Given the description of an element on the screen output the (x, y) to click on. 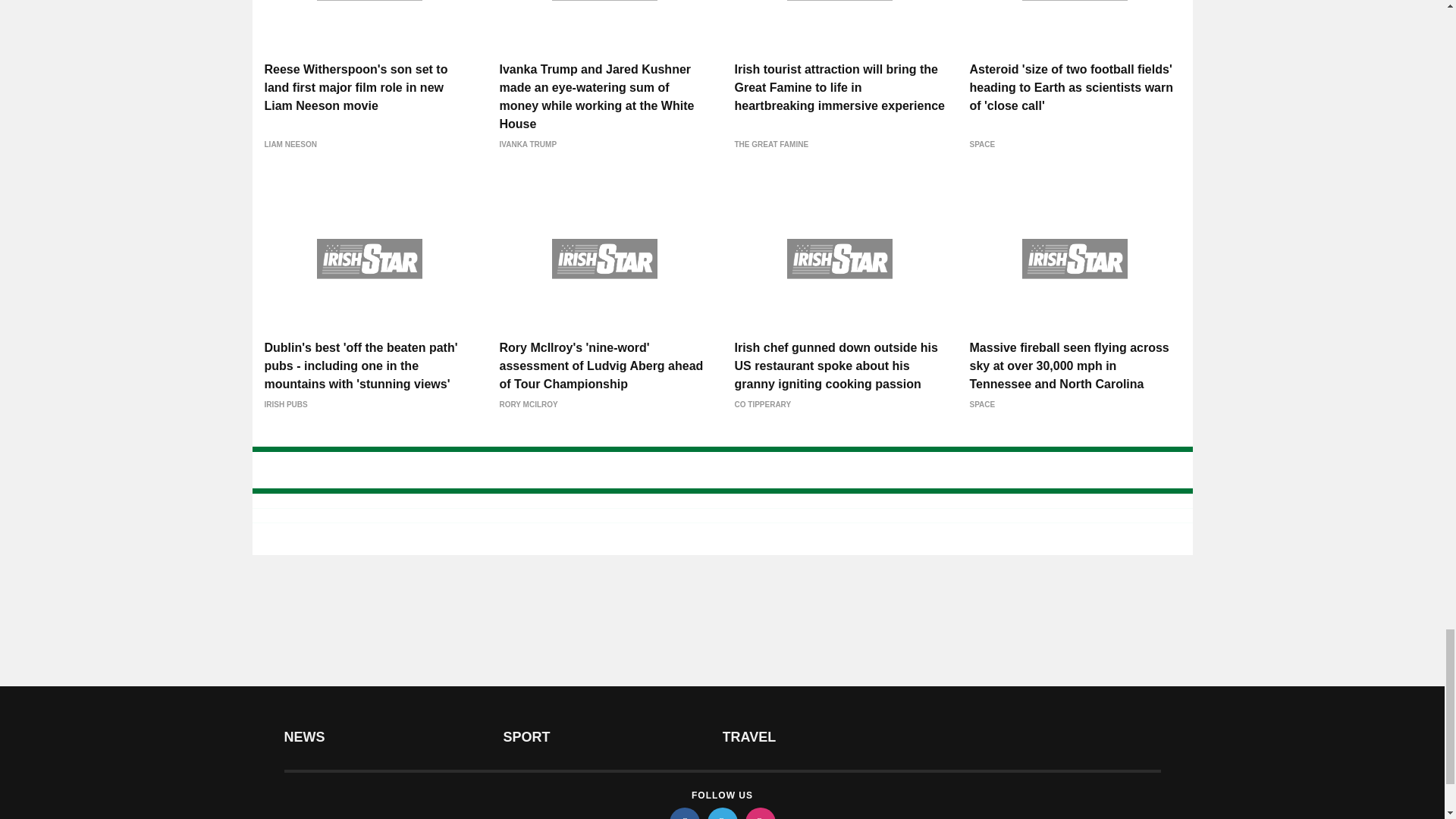
instagram (759, 813)
twitter (721, 813)
facebook (683, 813)
